Given the description of an element on the screen output the (x, y) to click on. 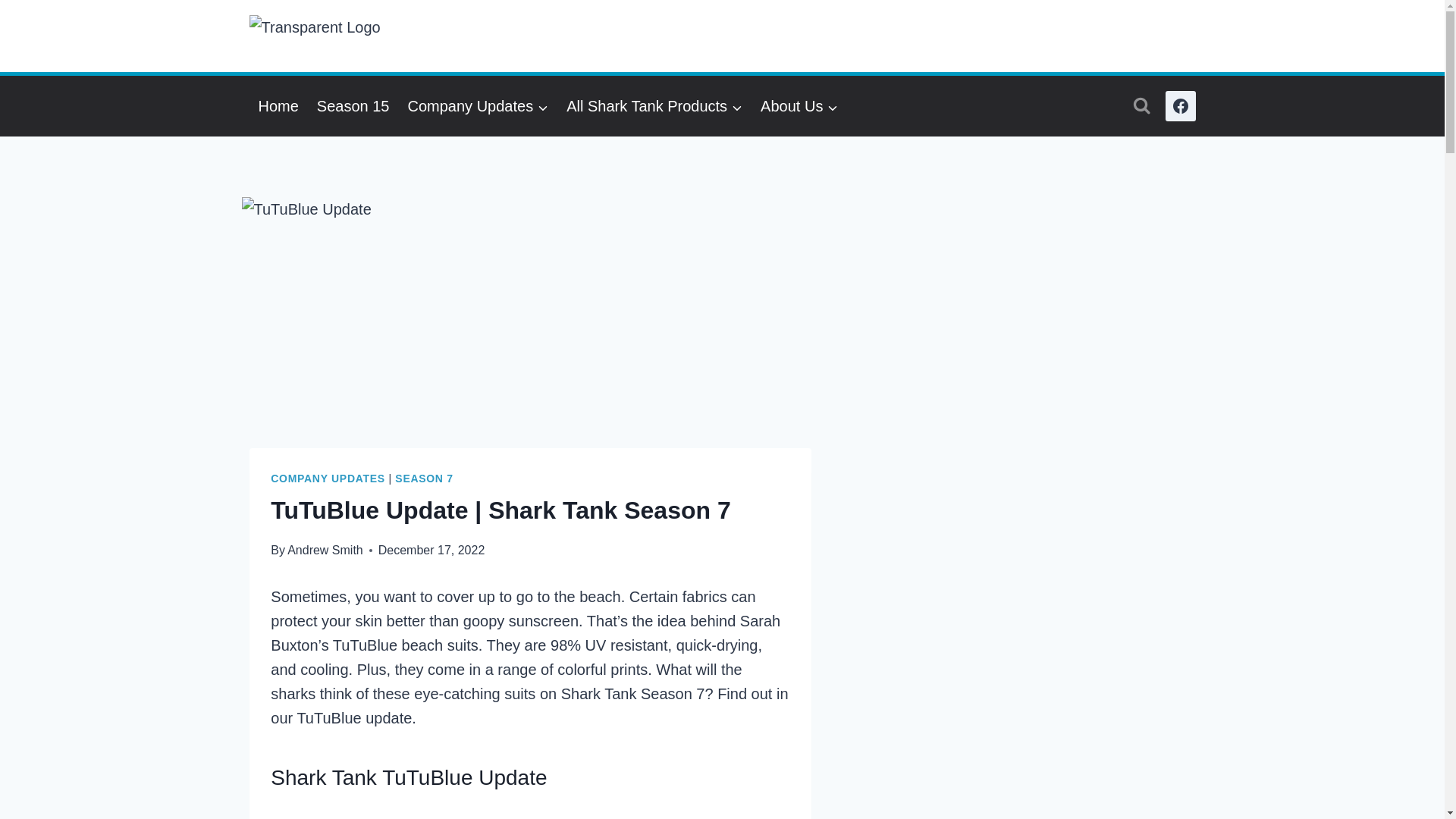
All Shark Tank Products (654, 106)
SEASON 7 (423, 478)
Season 15 (352, 106)
Andrew Smith (324, 549)
About Us (799, 106)
Home (277, 106)
COMPANY UPDATES (327, 478)
Company Updates (477, 106)
